Given the description of an element on the screen output the (x, y) to click on. 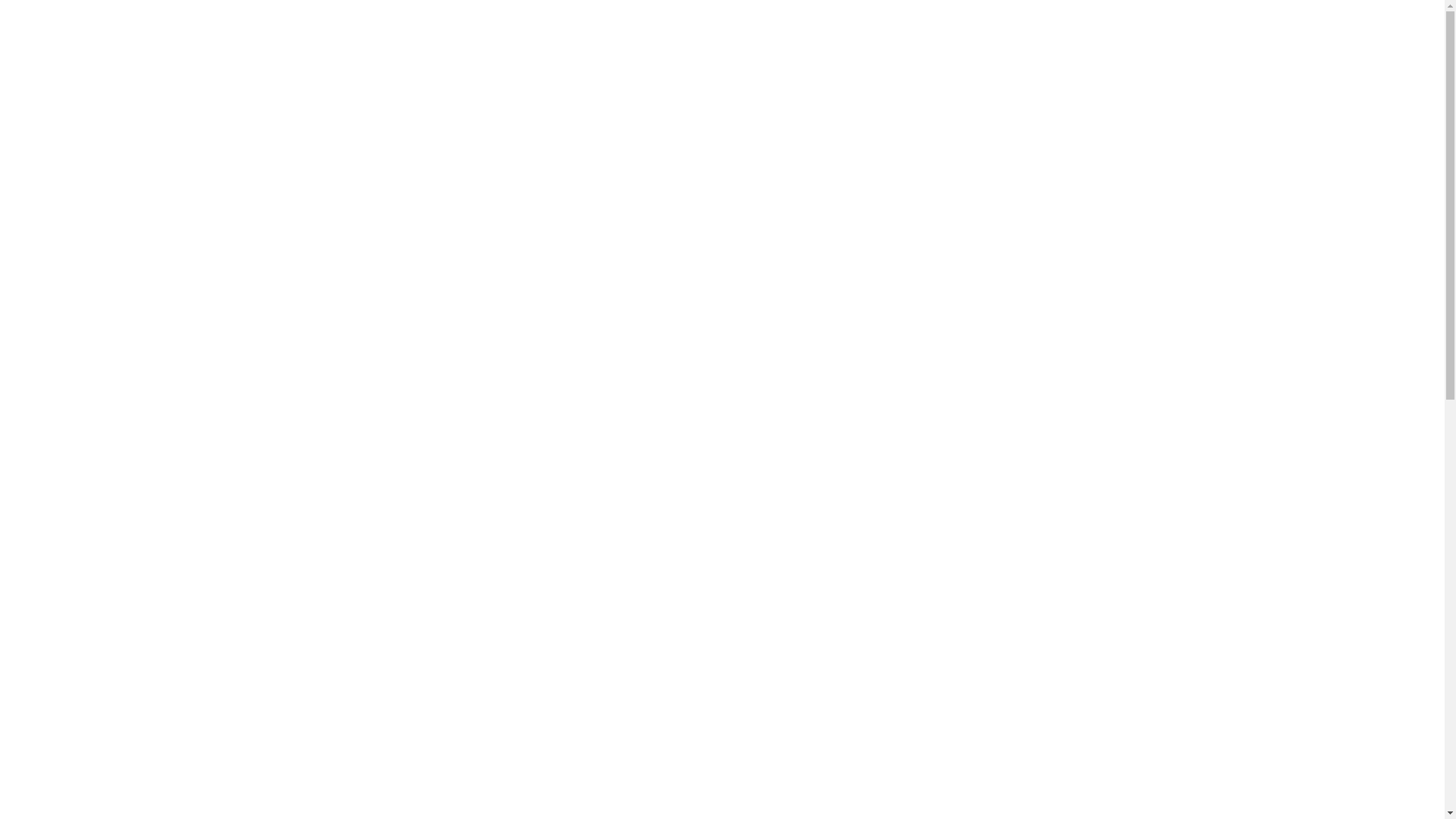
SUBMIT Element type: text (946, 744)
